Given the description of an element on the screen output the (x, y) to click on. 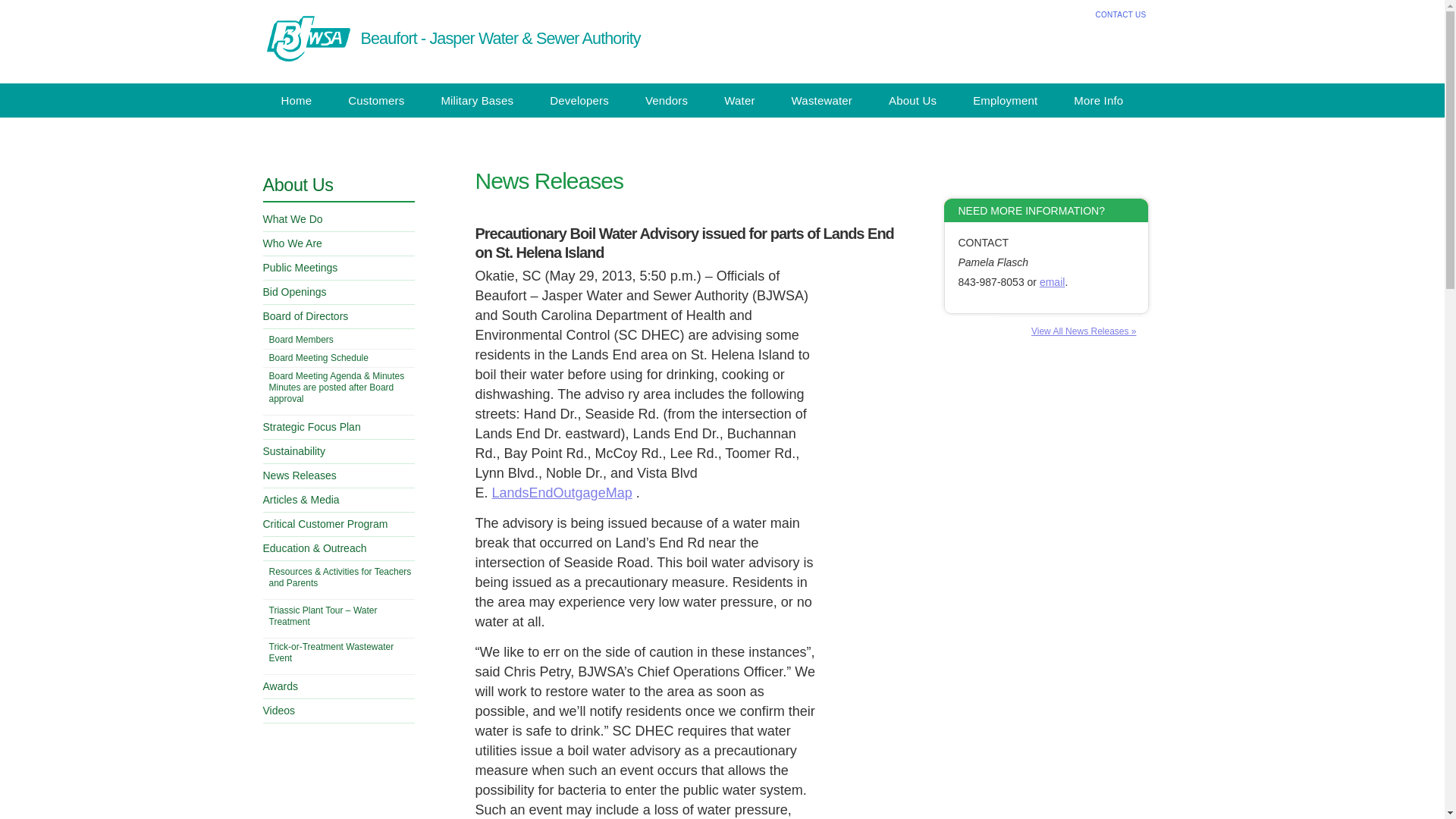
Vendors (666, 100)
Home (296, 100)
Water (739, 100)
Developers (579, 100)
Military Bases (476, 100)
BJWSA Website (306, 38)
Wastewater (821, 100)
CONTACT US (1119, 14)
Customers (376, 100)
